Given the description of an element on the screen output the (x, y) to click on. 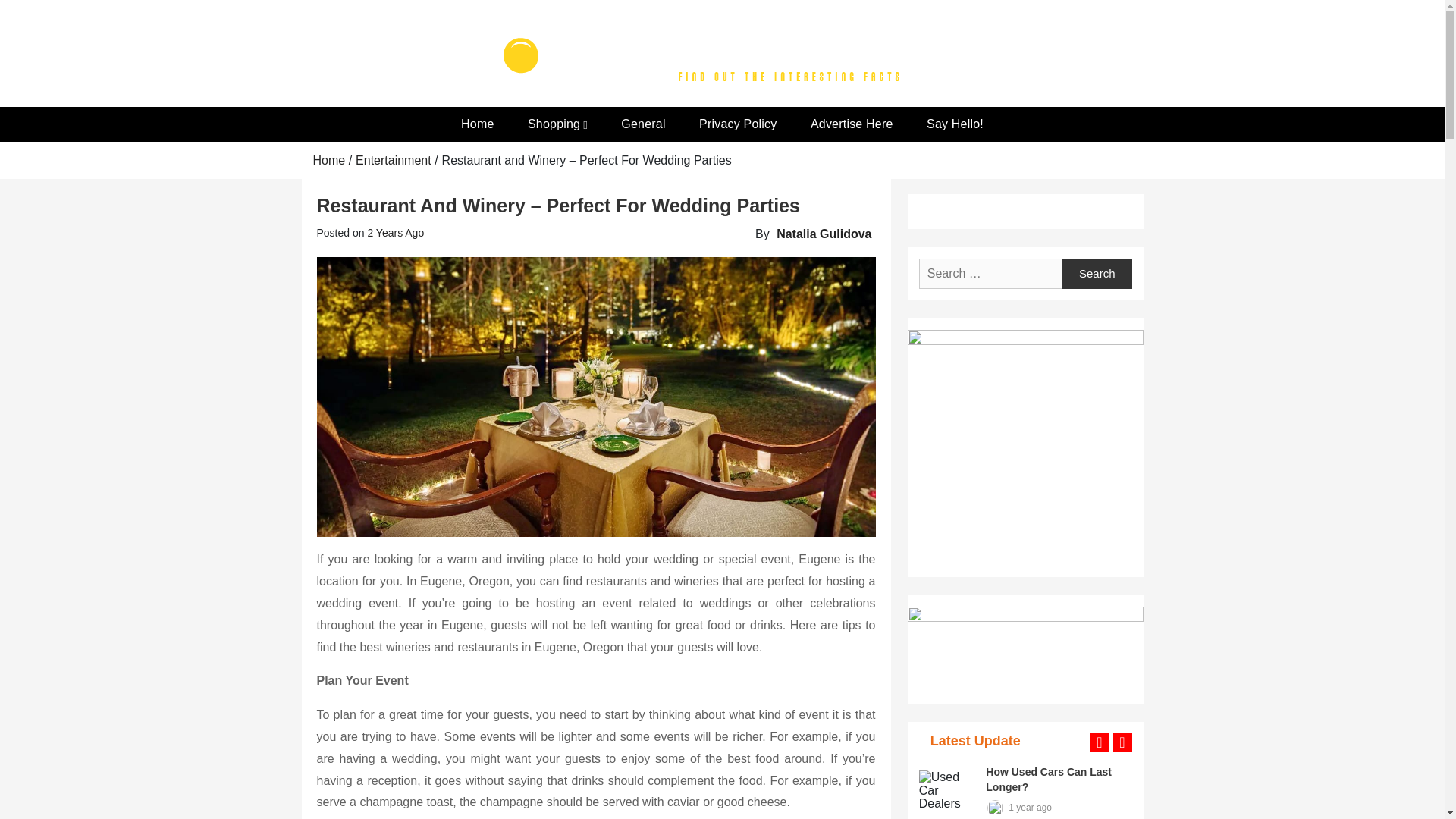
Search (1097, 273)
Advertise Here (851, 124)
Shopping (557, 124)
Search (1097, 273)
Home (329, 160)
General (642, 124)
Entertainment (392, 160)
Natalia Gulidova (823, 233)
Say Hello! (954, 124)
Home (476, 124)
Privacy Policy (738, 124)
2 Years Ago (394, 232)
